Given the description of an element on the screen output the (x, y) to click on. 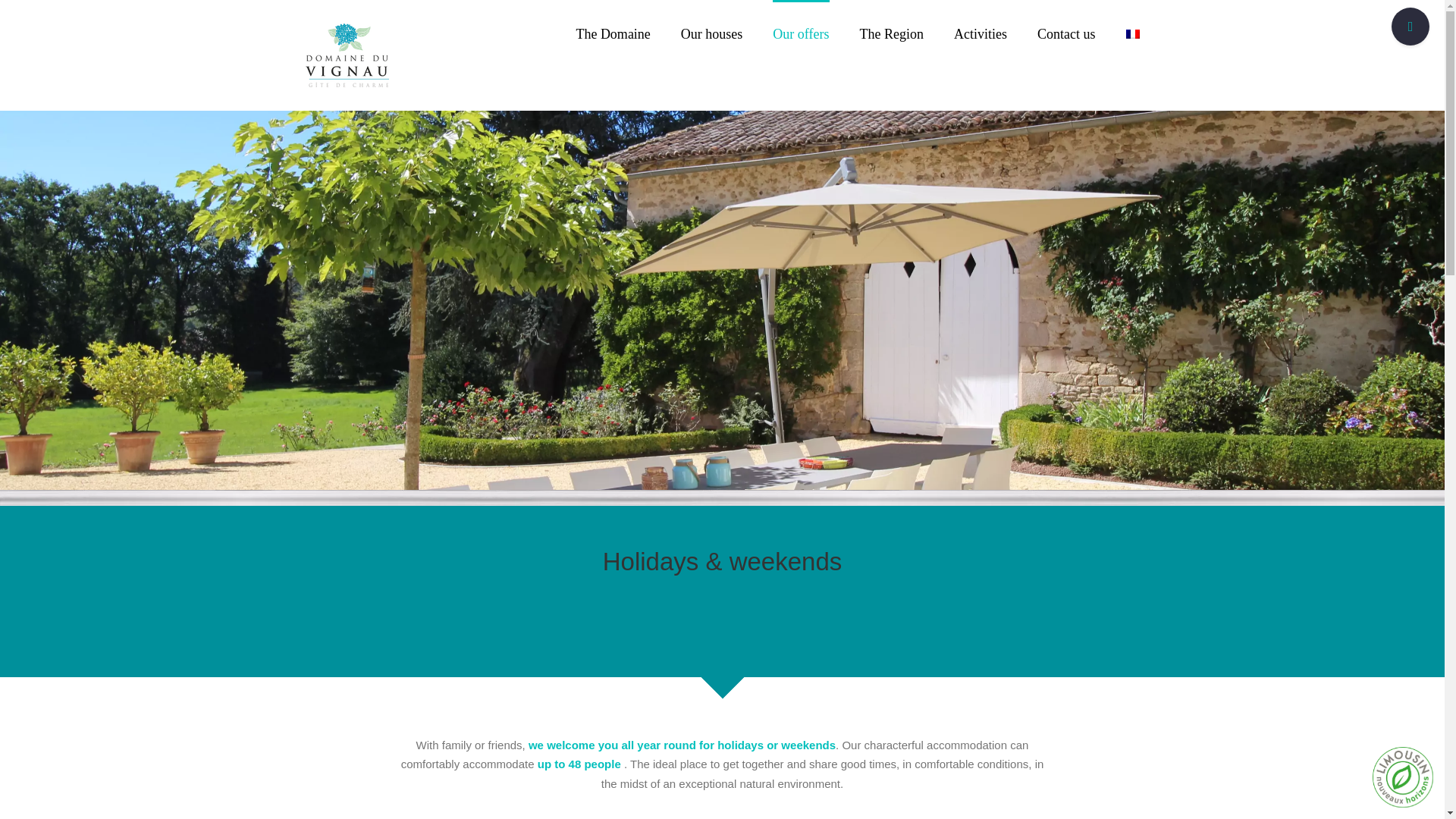
Contact us (1066, 32)
The Region (891, 32)
The Domaine (612, 32)
Our houses (711, 32)
